Given the description of an element on the screen output the (x, y) to click on. 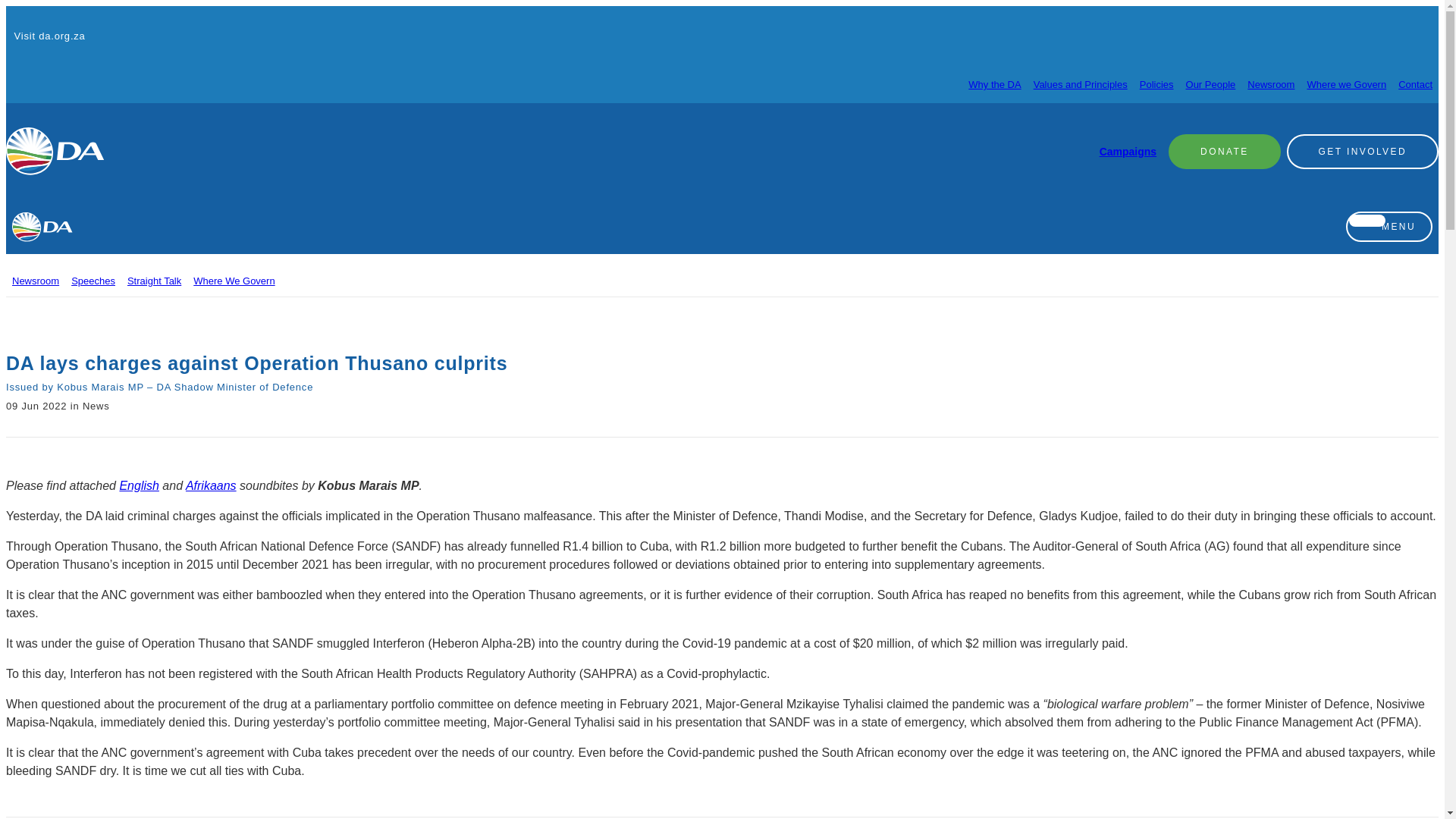
English (138, 485)
Newsroom (1270, 84)
Why the DA (994, 84)
Newsroom (35, 280)
Straight Talk (154, 280)
DONATE (1225, 150)
Where We Govern (234, 280)
Speeches (93, 280)
Visit da.org.za (45, 35)
Afrikaans (210, 485)
